Given the description of an element on the screen output the (x, y) to click on. 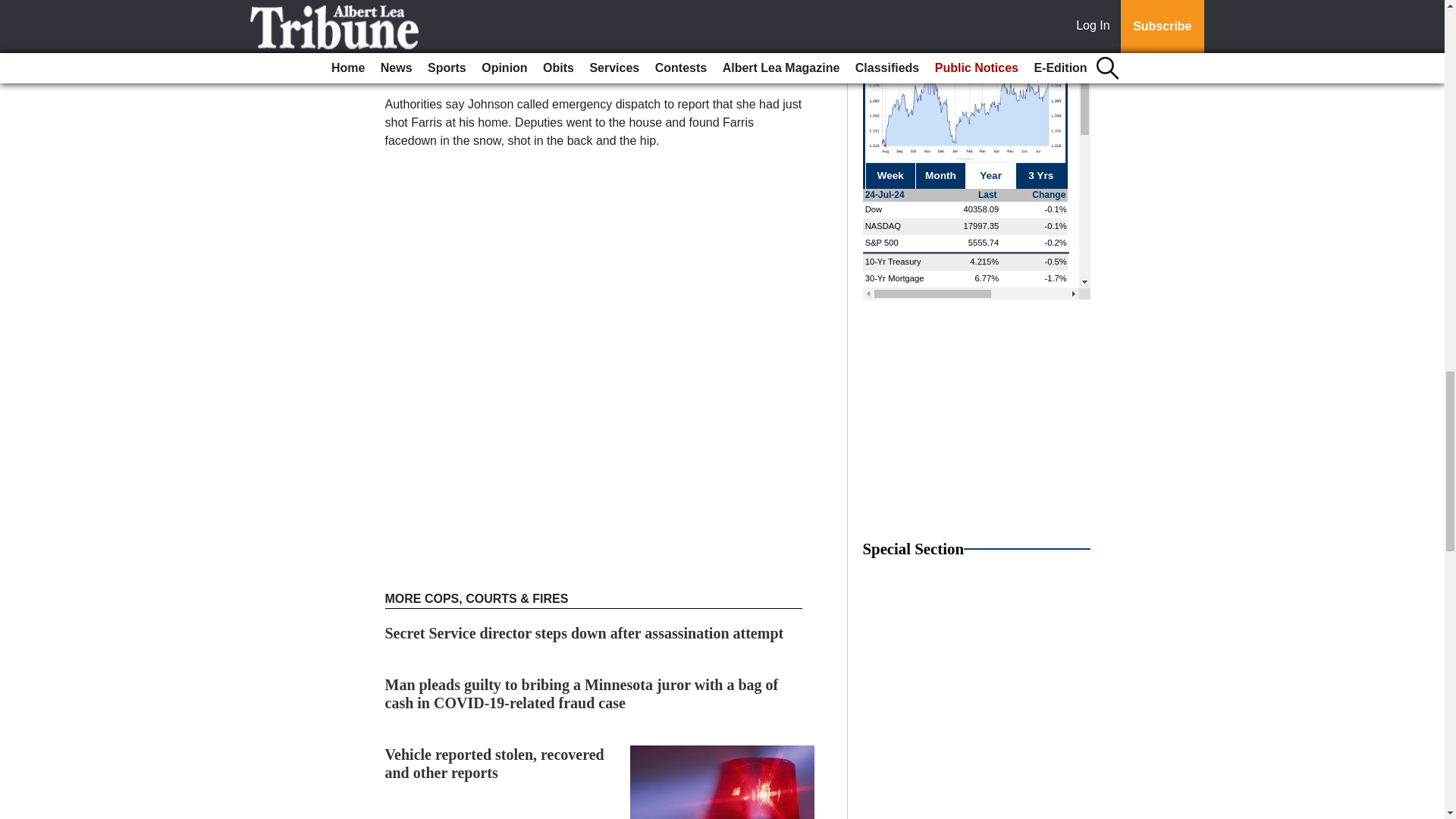
Subscribe (434, 7)
Vehicle reported stolen, recovered and other reports (494, 763)
